Given the description of an element on the screen output the (x, y) to click on. 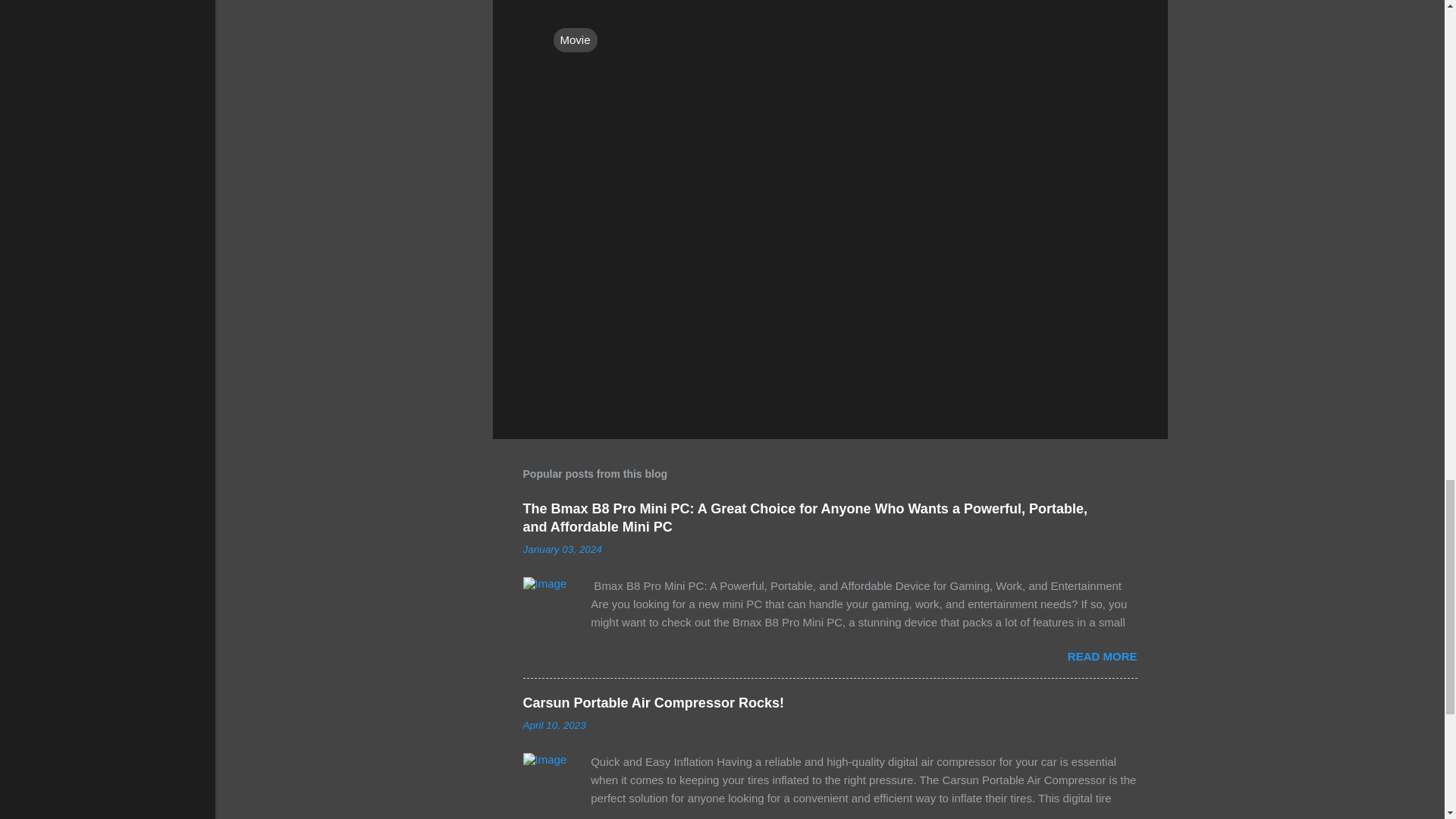
April 10, 2023 (554, 725)
Carsun Portable Air Compressor Rocks! (653, 702)
READ MORE (1102, 656)
Movie (574, 39)
January 03, 2024 (562, 549)
